Given the description of an element on the screen output the (x, y) to click on. 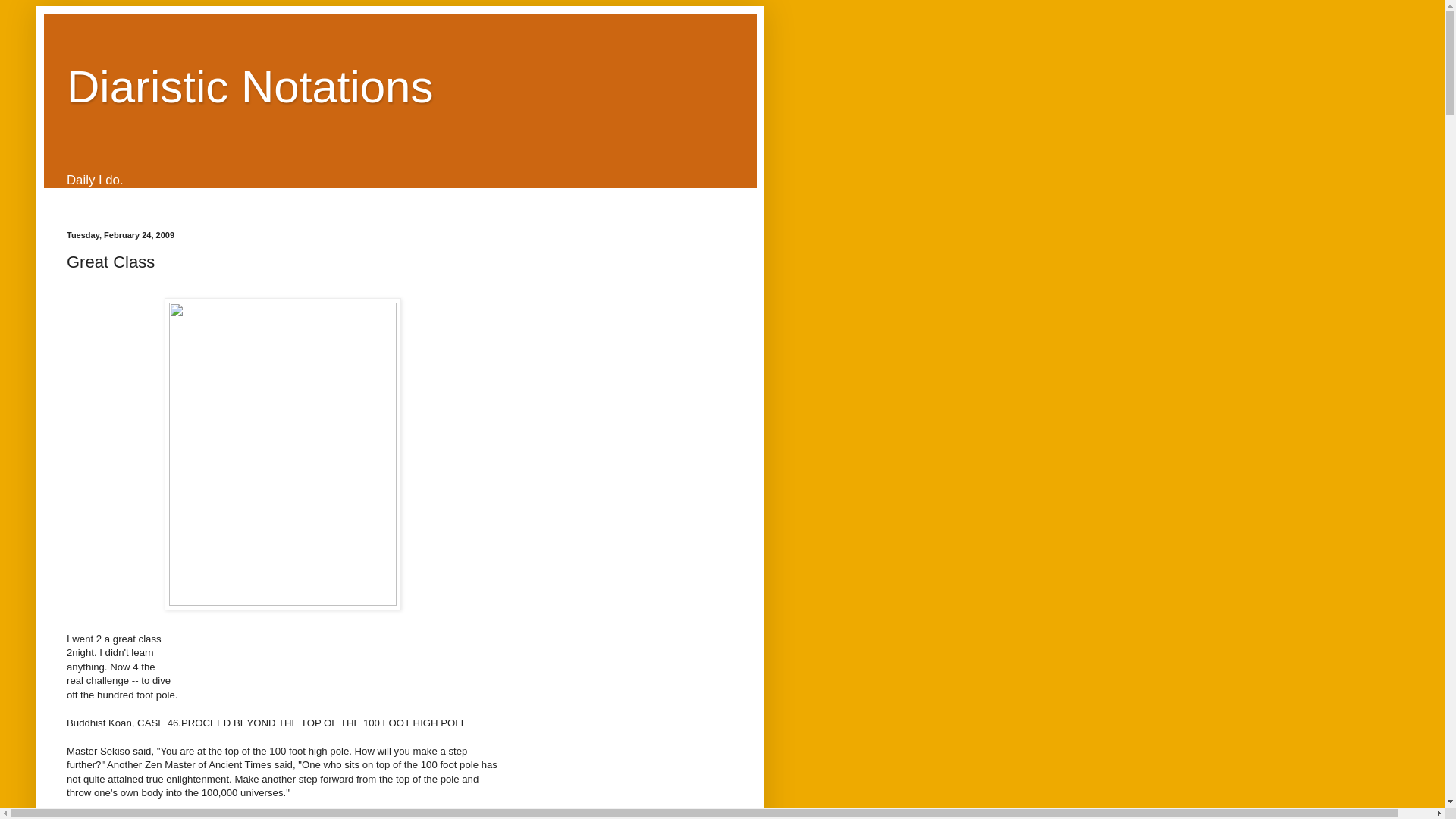
Diaristic Notations (249, 86)
